Given the description of an element on the screen output the (x, y) to click on. 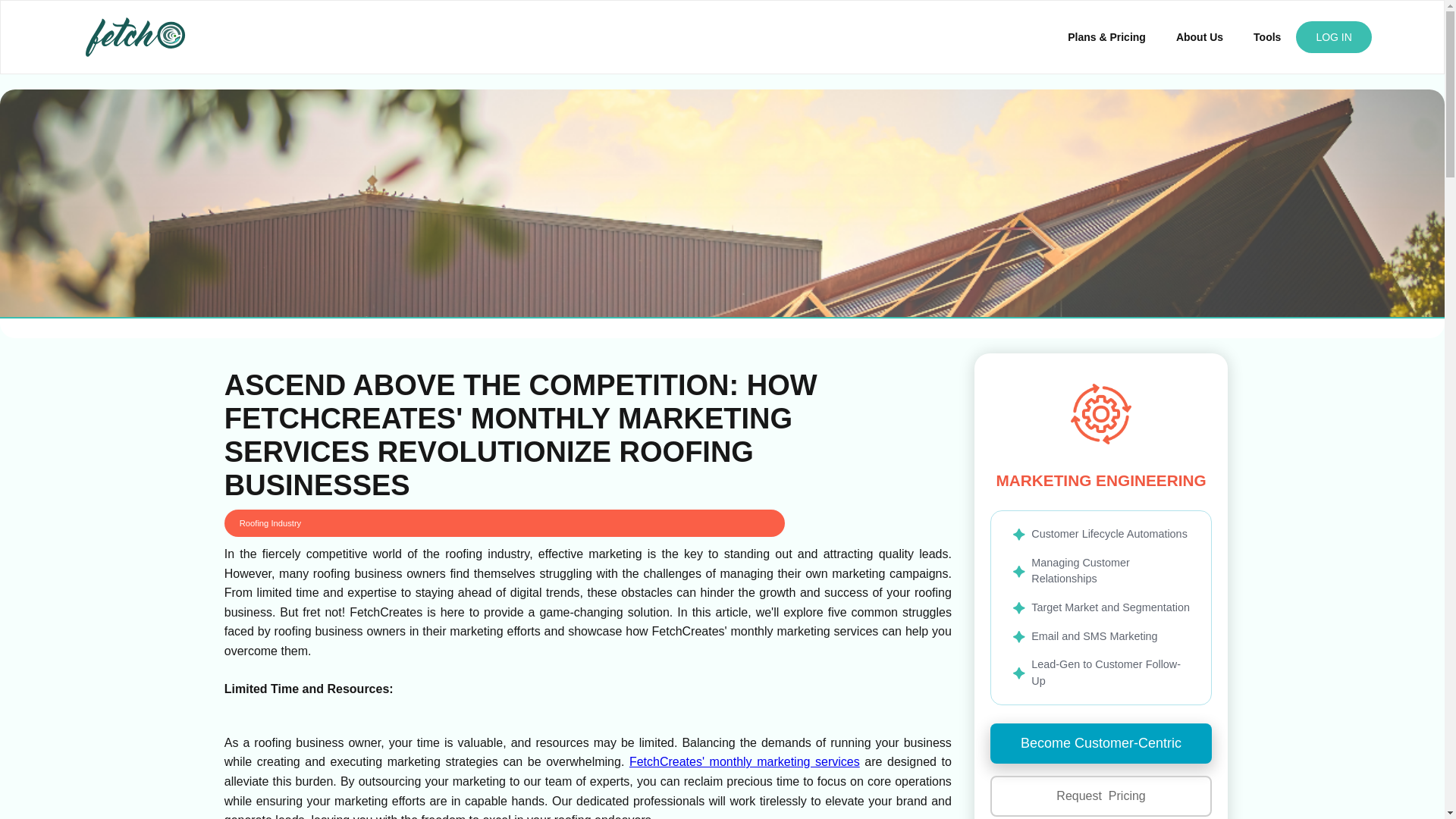
LOG IN (1333, 37)
Request  Pricing (1101, 795)
Become Customer-Centric (1101, 743)
FetchCreates' monthly marketing services (744, 761)
About Us (1199, 36)
Tools (1267, 36)
